Given the description of an element on the screen output the (x, y) to click on. 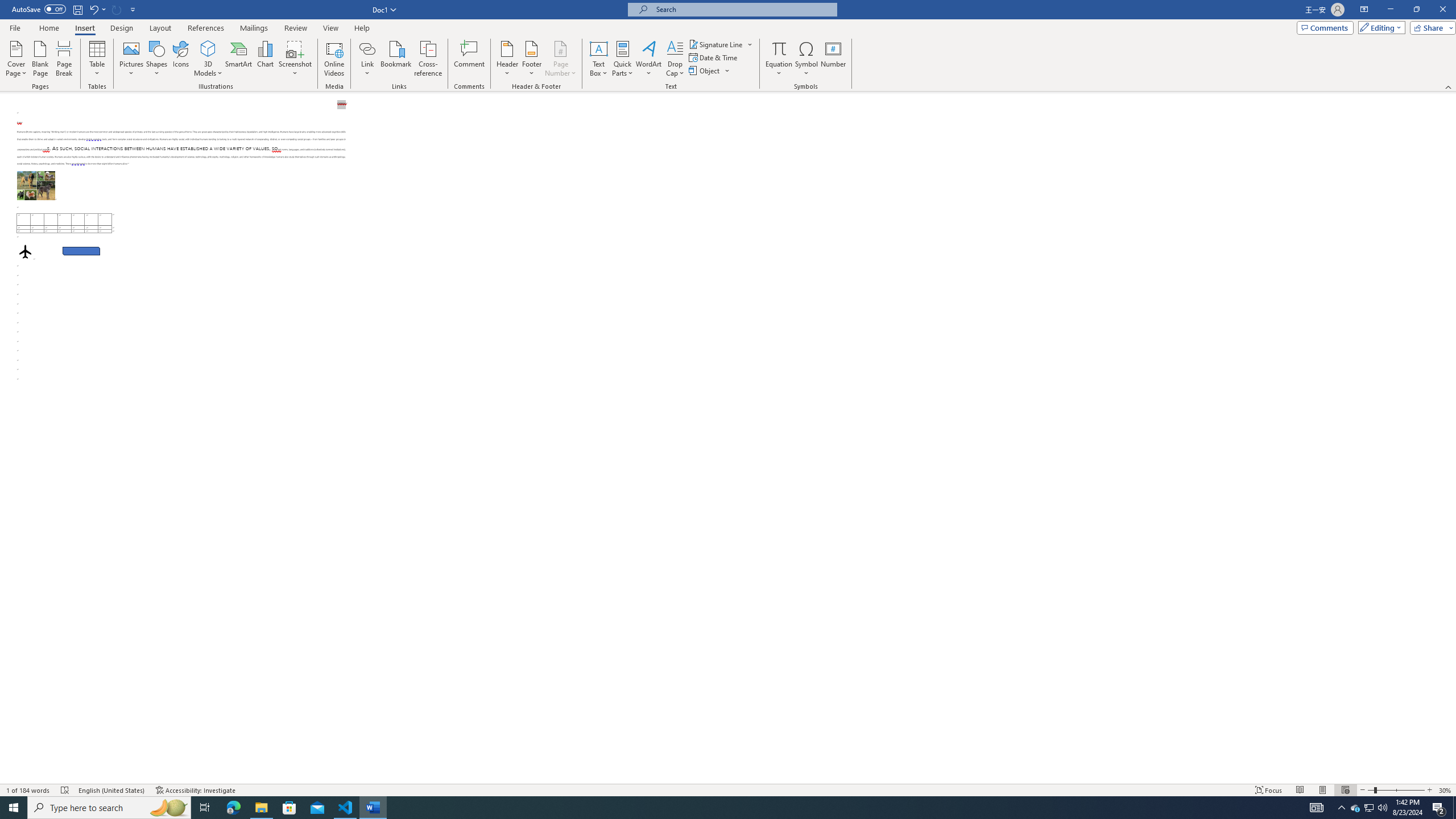
Table (97, 58)
Screenshot (295, 58)
Can't Repeat (117, 9)
Equation (778, 48)
